Given the description of an element on the screen output the (x, y) to click on. 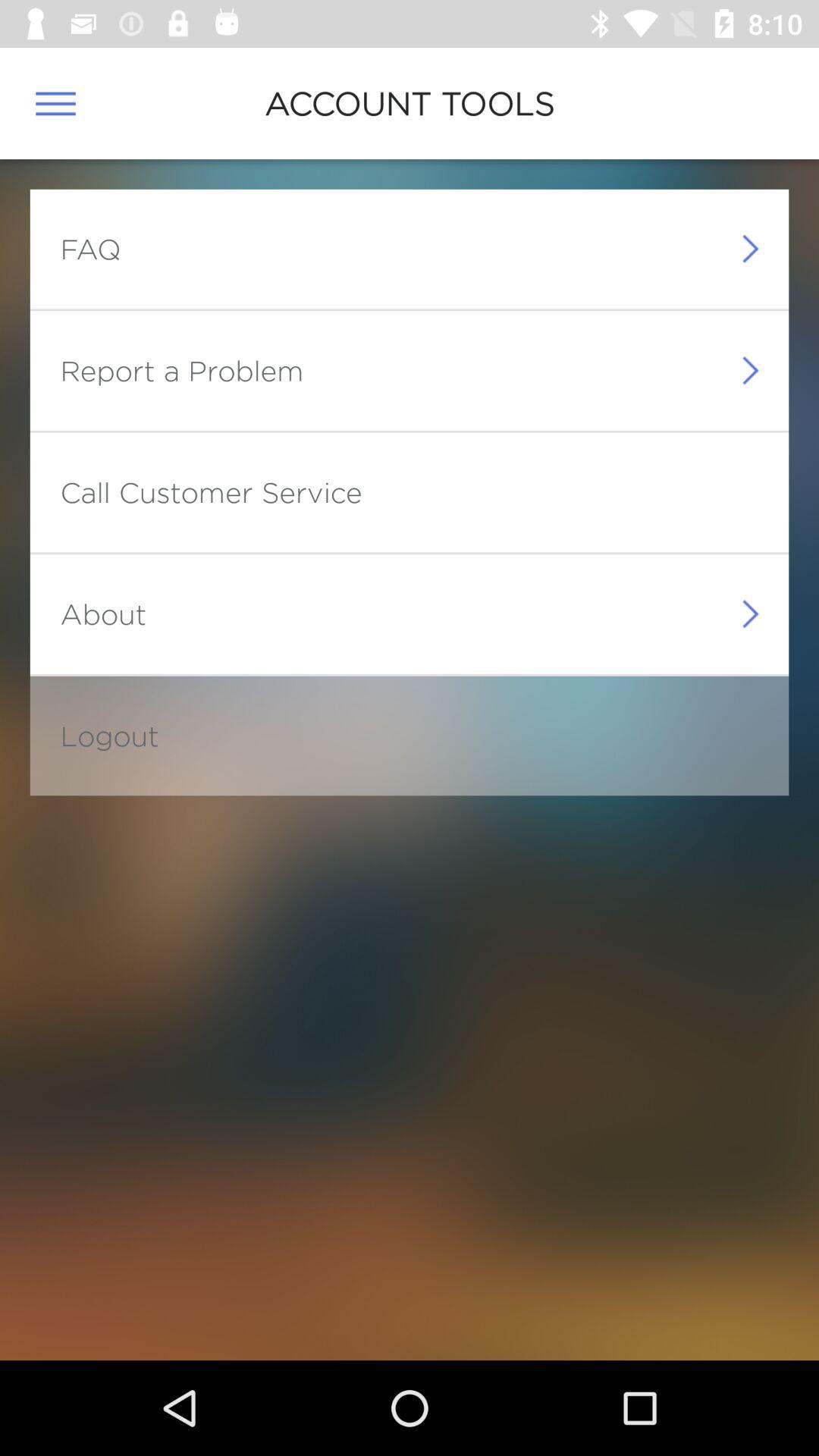
flip to the about icon (103, 613)
